Given the description of an element on the screen output the (x, y) to click on. 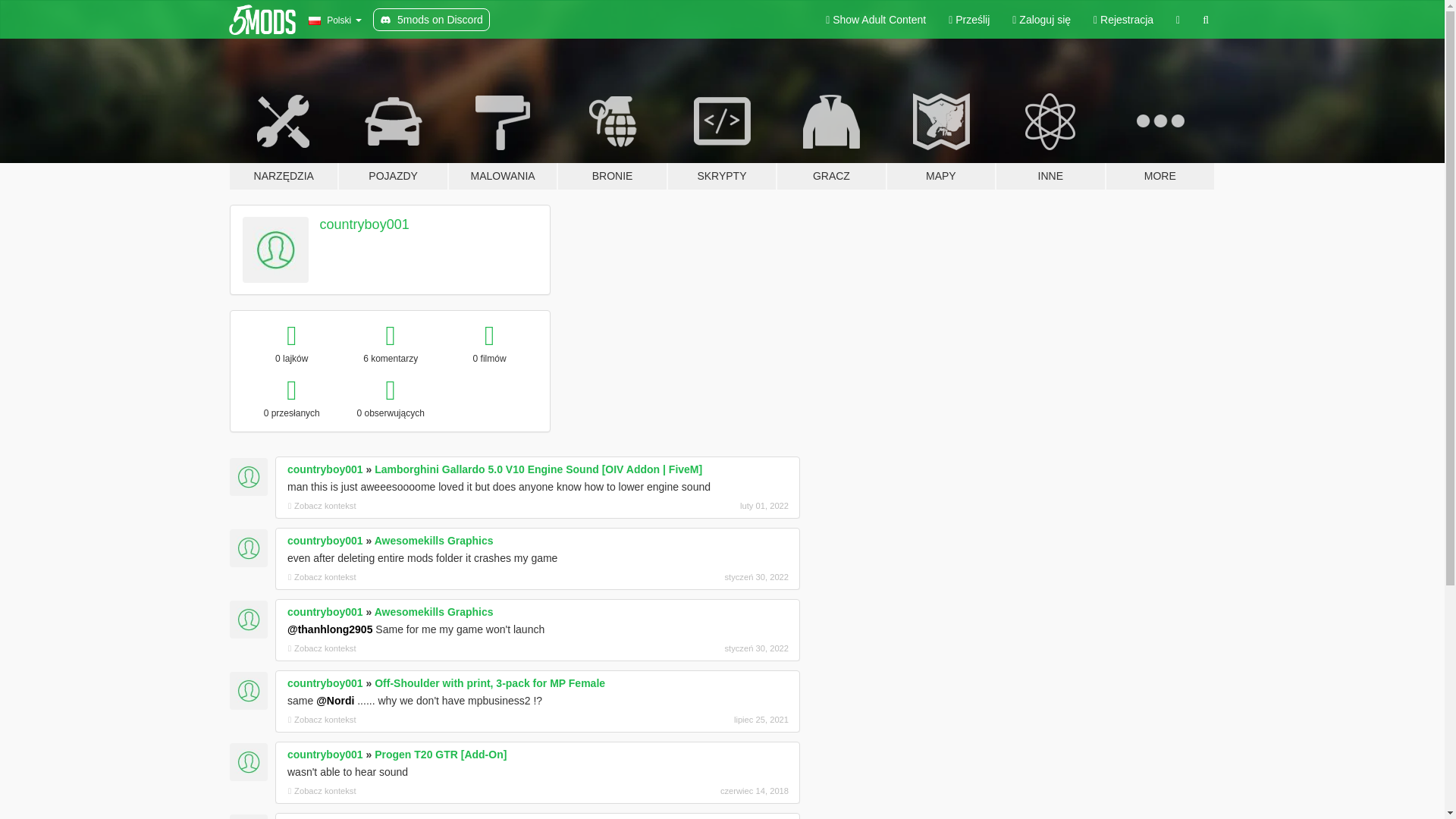
Show Adult Content (875, 19)
Light mode (875, 19)
Rejestracja (1122, 19)
5mods on Discord (430, 19)
  Polski (334, 19)
